Given the description of an element on the screen output the (x, y) to click on. 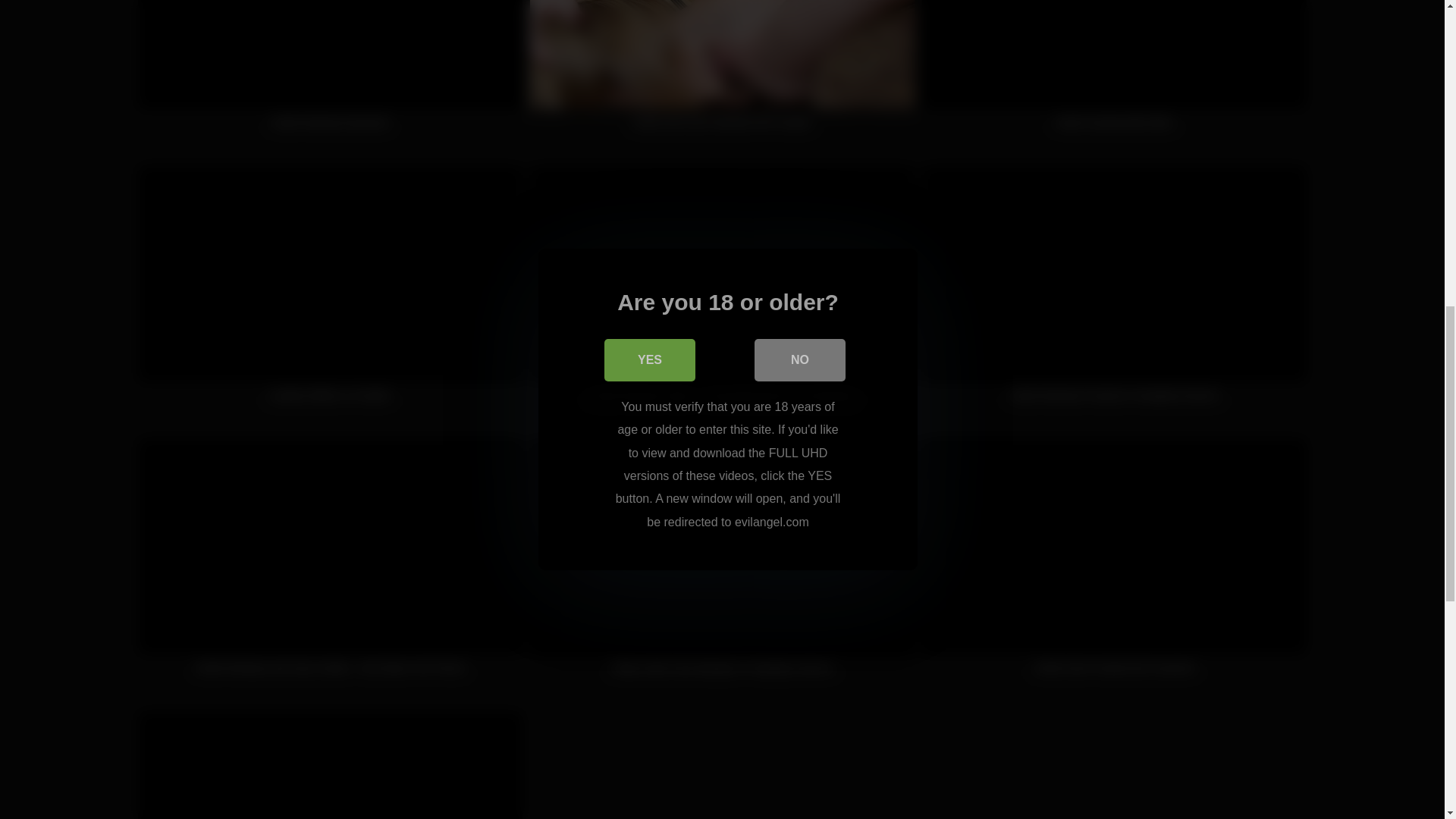
Karlie and Lisa A Daniels from Hustler (721, 72)
Karlie Gets Fucked And Creamed (1113, 564)
Karlie Sucking Mick Blue (1113, 72)
Slutty Karlie Gets Banged on Naughty America (721, 564)
Karlie Sucking Mick Blue (1113, 72)
Karlie Montana Fucked on Naughty America (1113, 291)
Karlie and Lisa A Daniels from Hustler (721, 72)
Lesbian Affairs on Hustler (330, 291)
Karlie Montana Exposed (330, 72)
Karlie Montana Exposed (330, 72)
